Given the description of an element on the screen output the (x, y) to click on. 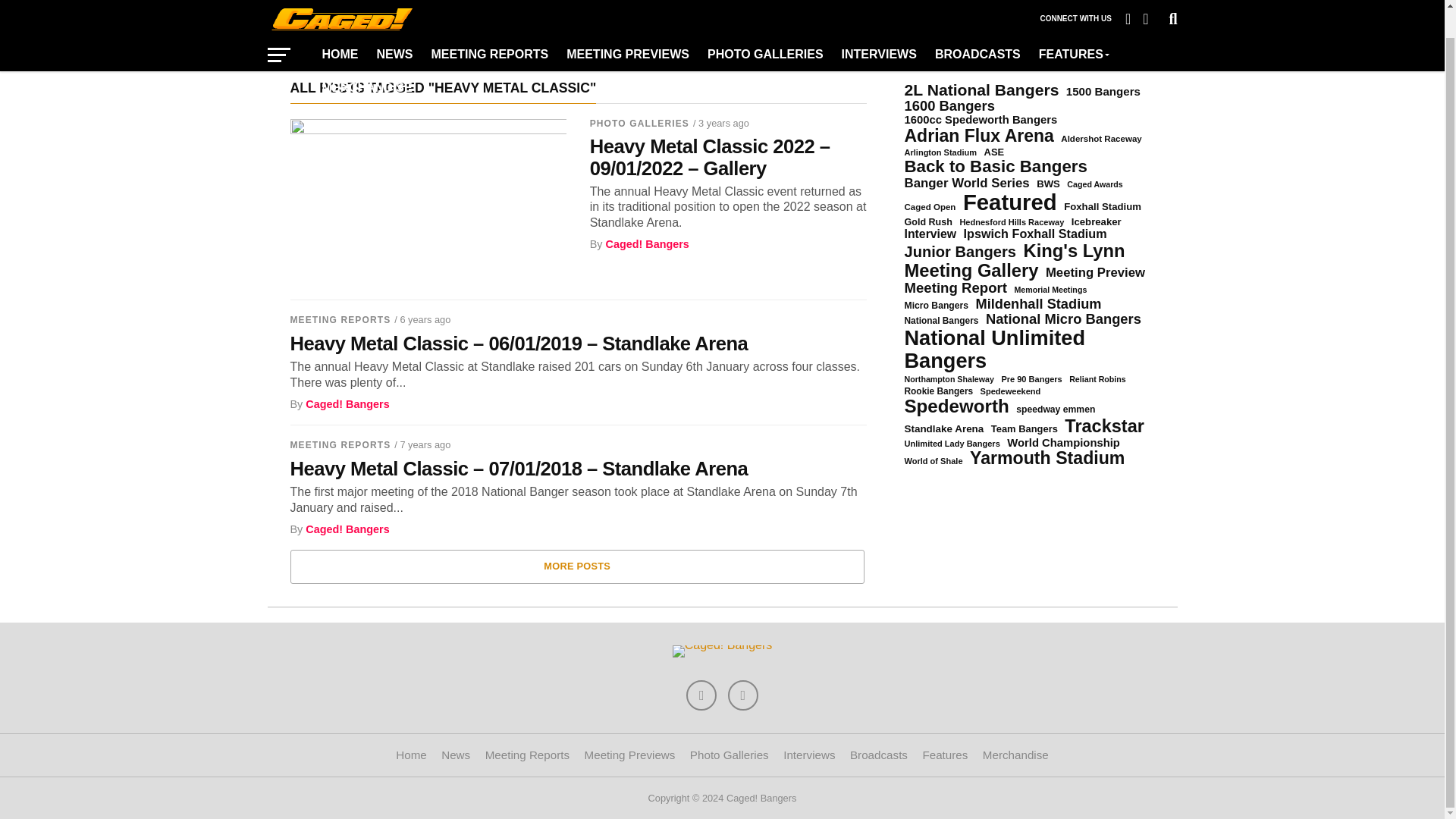
PHOTO GALLERIES (765, 26)
NEWS (394, 26)
MEETING REPORTS (489, 26)
MEETING PREVIEWS (627, 26)
Posts by Caged! Bangers (646, 244)
Posts by Caged! Bangers (346, 529)
HOME (339, 26)
Posts by Caged! Bangers (346, 404)
